Given the description of an element on the screen output the (x, y) to click on. 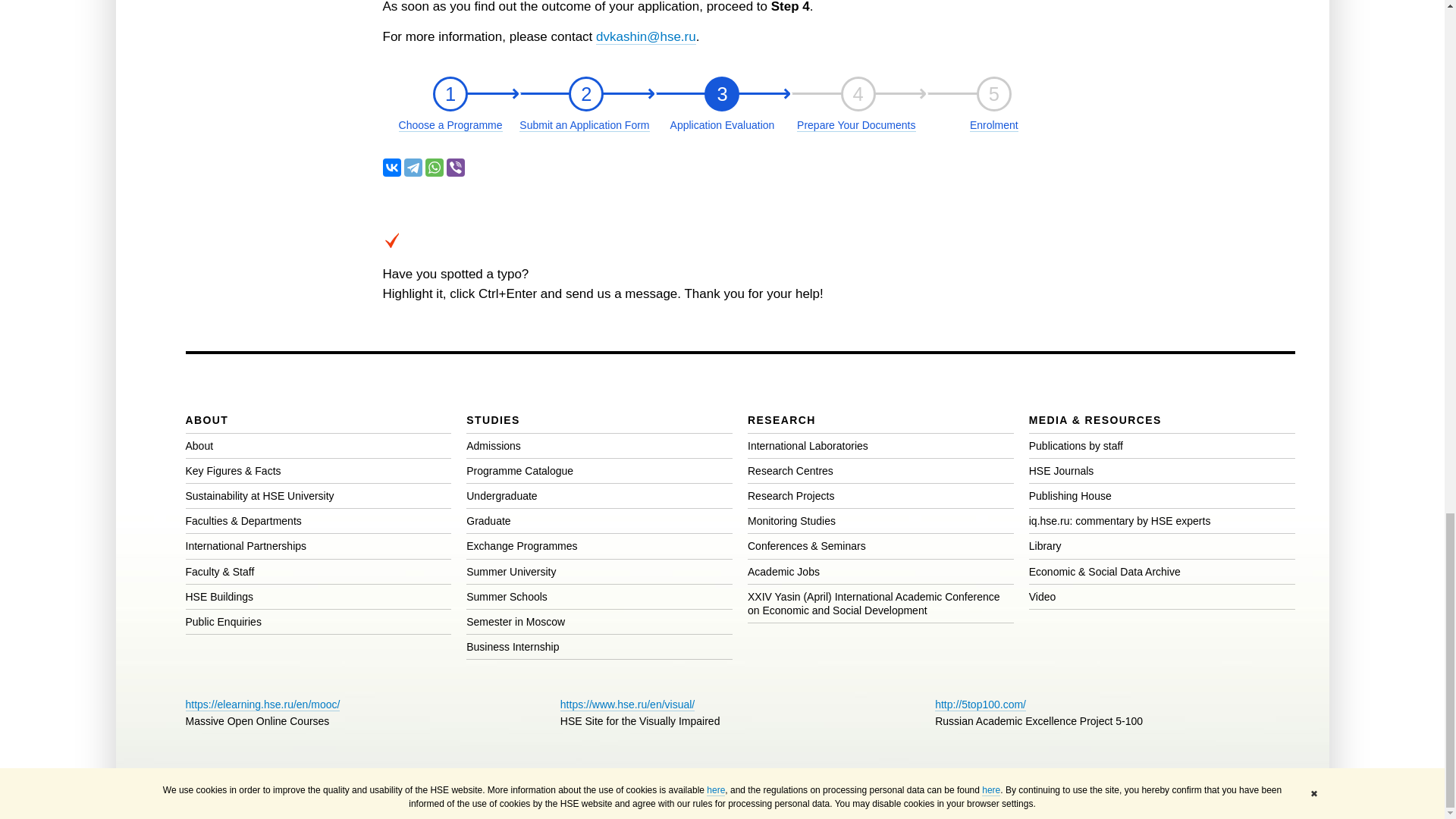
Viber (721, 94)
VKontakte (449, 94)
Telegram (585, 94)
WhatsApp (993, 94)
